Given the description of an element on the screen output the (x, y) to click on. 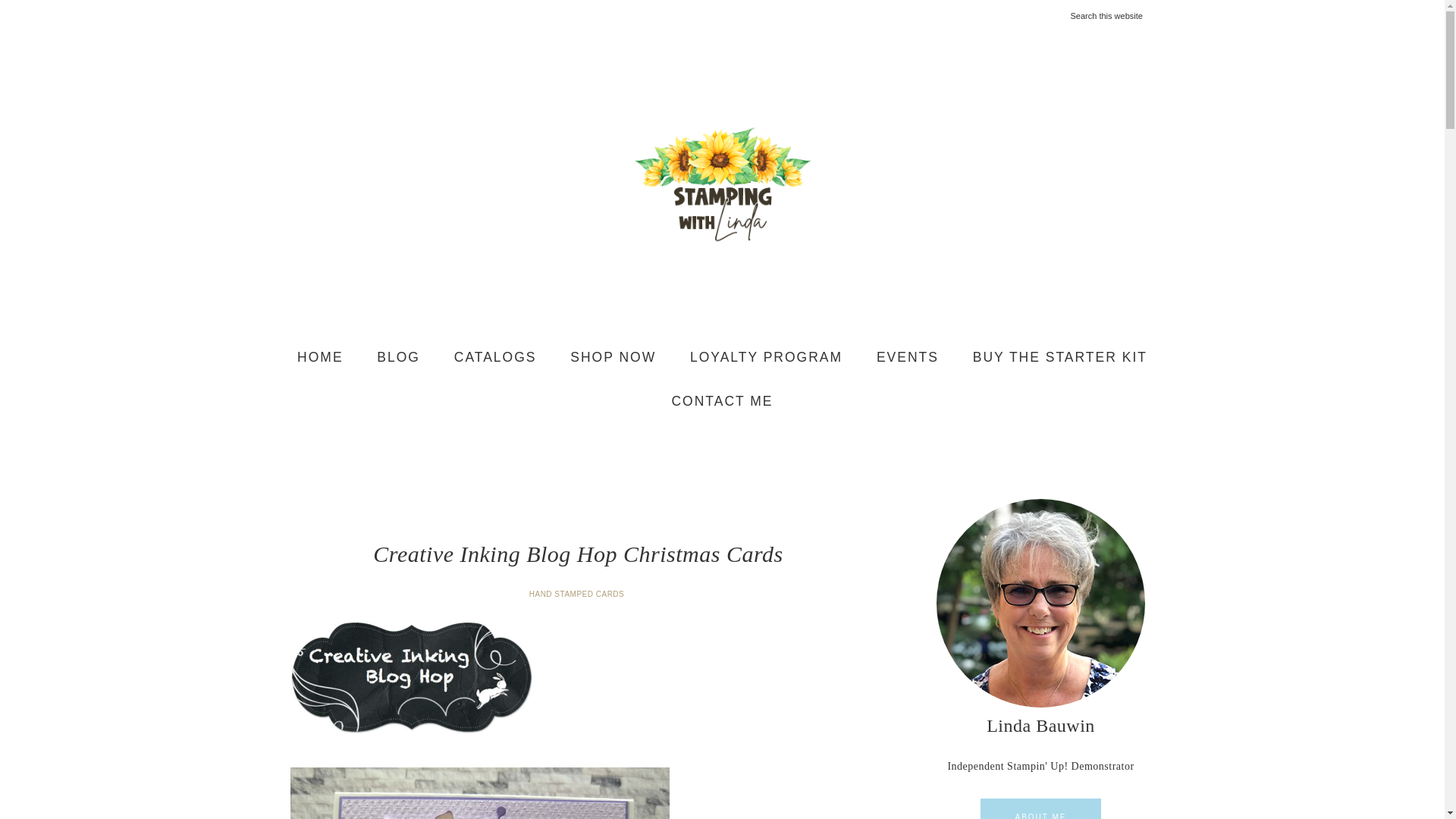
LOYALTY PROGRAM (766, 357)
HOME (320, 357)
BUY THE STARTER KIT (1059, 357)
BLOG (398, 357)
HAND STAMPED CARDS (577, 593)
STAMPING WITH LINDA, CARD-IOLOGIST (722, 183)
SHOP NOW (612, 357)
CONTACT ME (721, 401)
CATALOGS (495, 357)
EVENTS (907, 357)
